Given the description of an element on the screen output the (x, y) to click on. 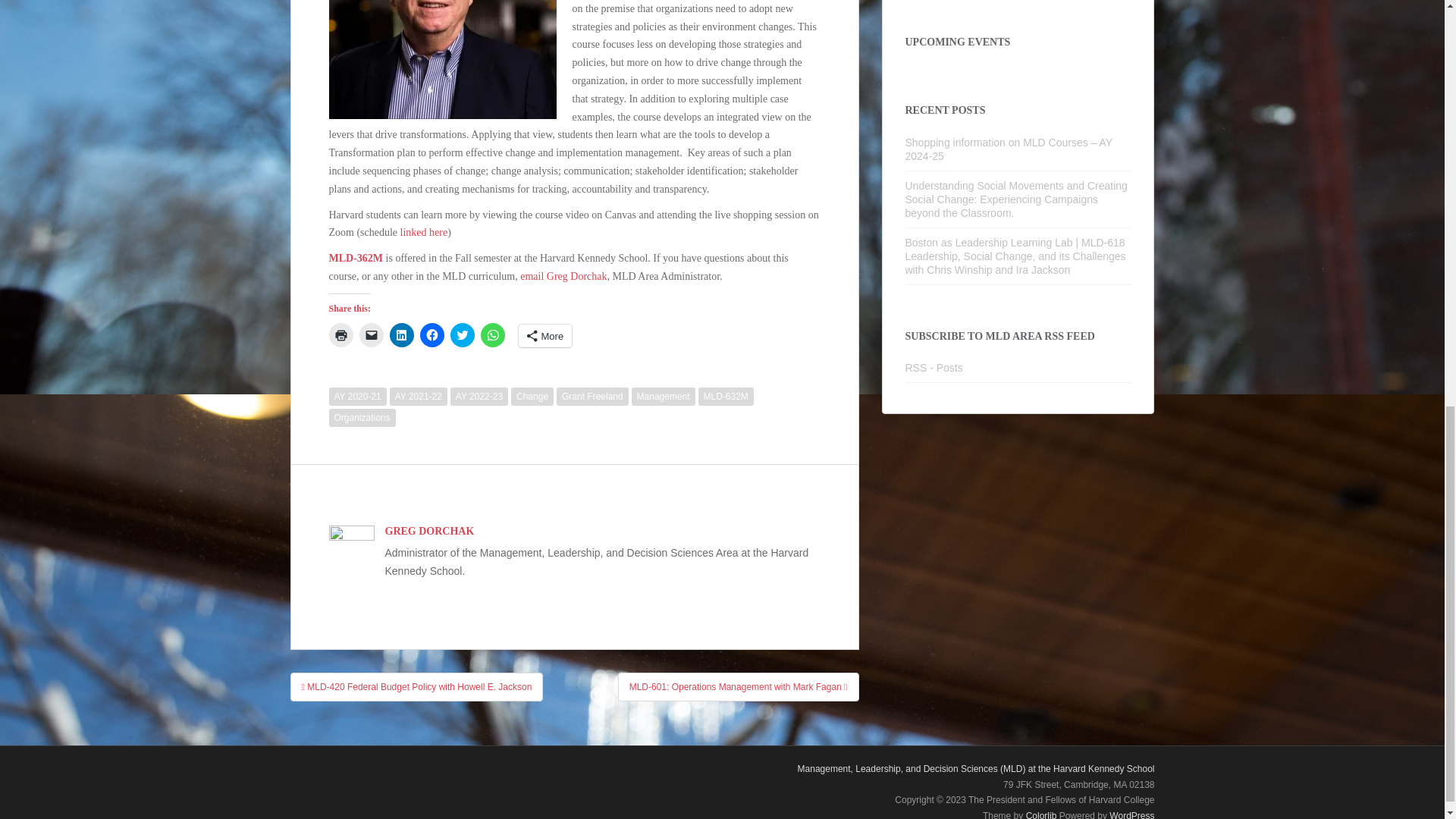
MLD-362M (356, 257)
Click to share on WhatsApp (492, 334)
Click to share on Facebook (432, 334)
email Greg Dorchak (562, 276)
Click to email a link to a friend (371, 334)
linked here (424, 232)
Click to print (341, 334)
Click to share on Twitter (461, 334)
Click to share on LinkedIn (401, 334)
More (545, 335)
